Given the description of an element on the screen output the (x, y) to click on. 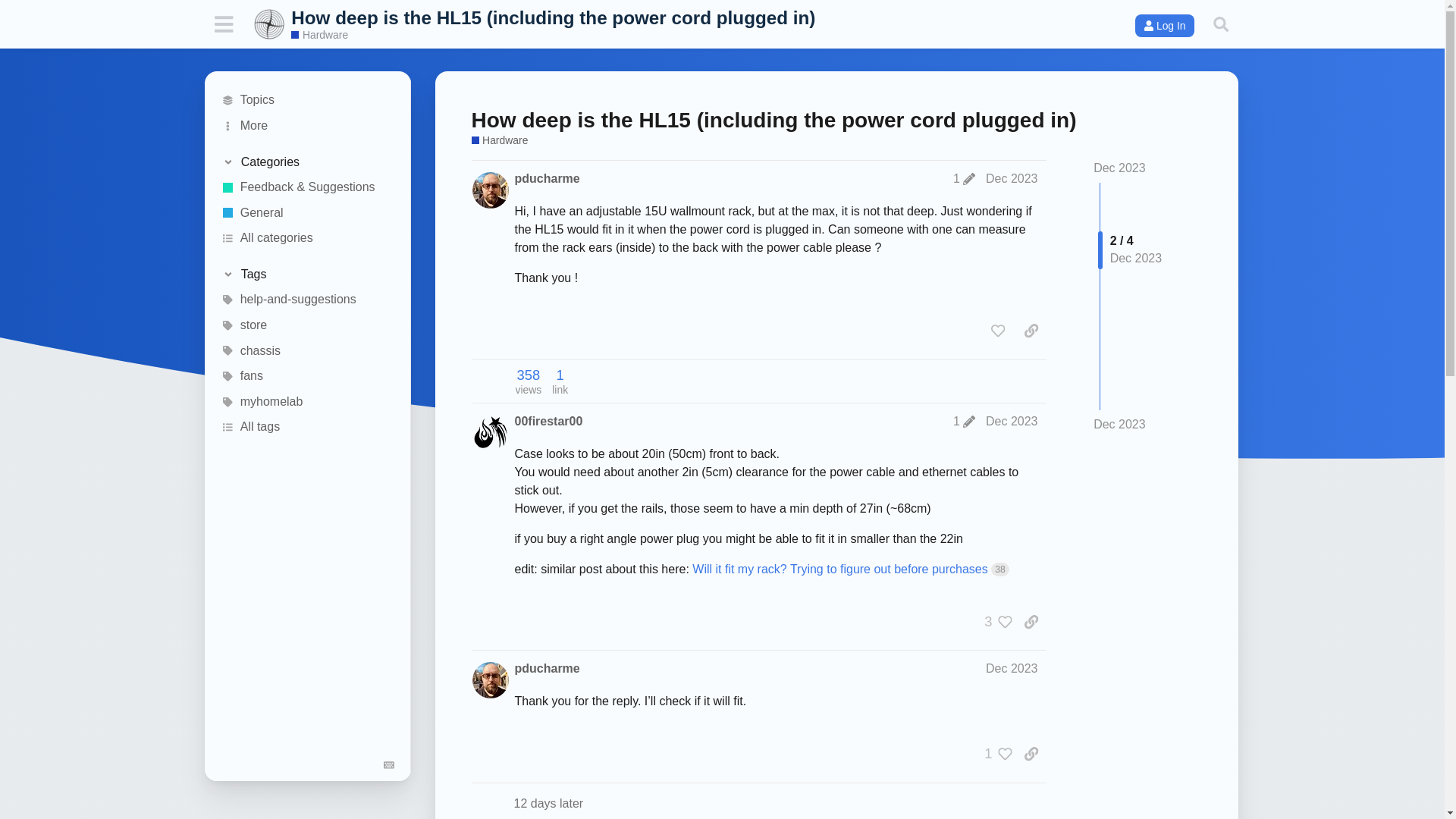
Search (1220, 23)
Categories (306, 162)
1 (964, 421)
Hardware (319, 34)
Dec 2023 (1119, 167)
Jump to the first post (1119, 167)
General (307, 212)
Sidebar (223, 23)
Toggle section (306, 162)
Hardware (499, 140)
chassis (307, 350)
myhomelab (307, 401)
All categories (307, 238)
